Given the description of an element on the screen output the (x, y) to click on. 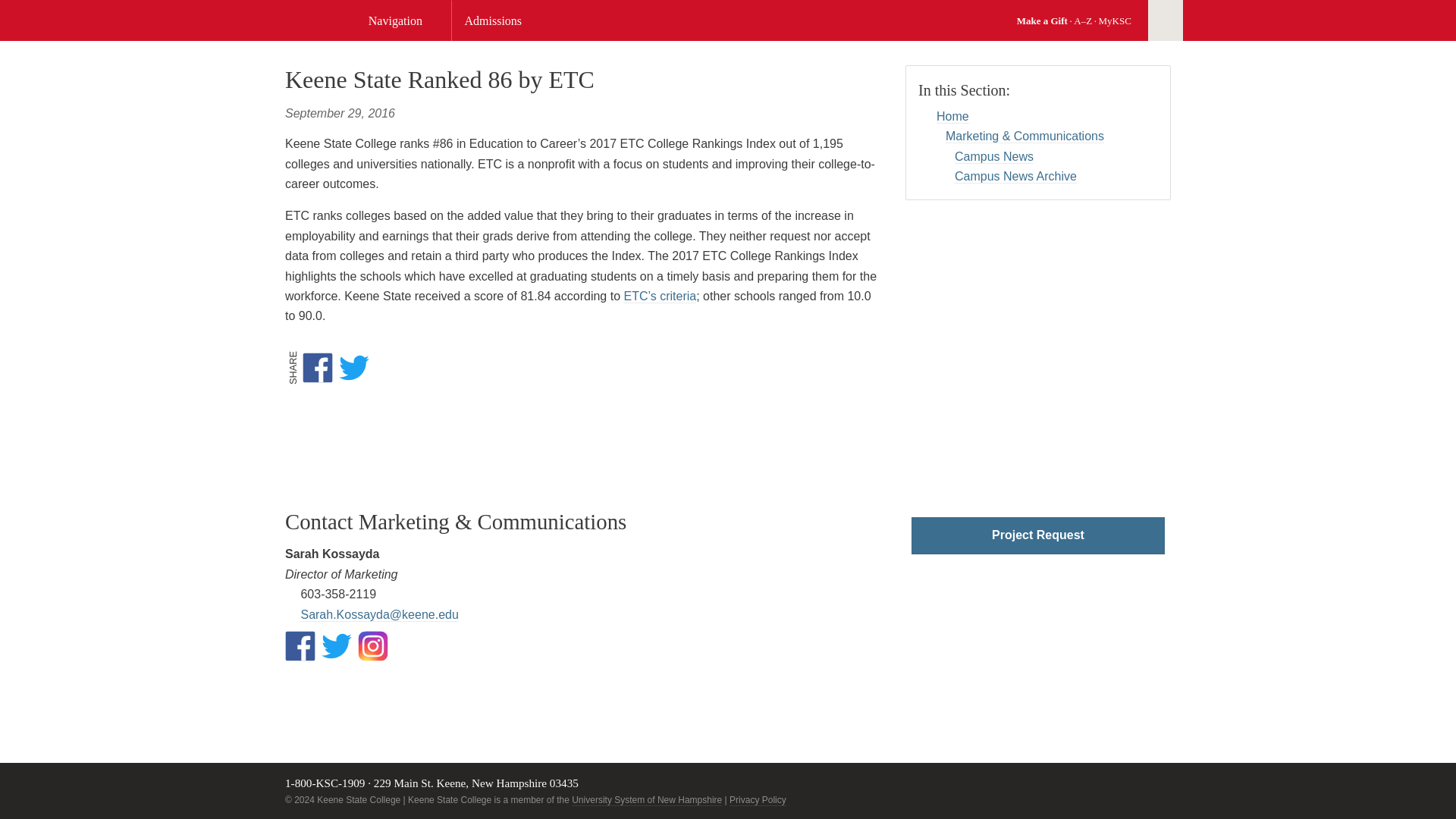
Admissions (501, 20)
Privacy Policy (757, 799)
Visit us on Twitter (336, 645)
Visit us on Instagram (373, 645)
Campus News (994, 156)
Campus News Archive (1016, 176)
Project Request (1037, 535)
Home (952, 116)
Make a Gift (1041, 20)
Visit us on Facebook (300, 645)
